Given the description of an element on the screen output the (x, y) to click on. 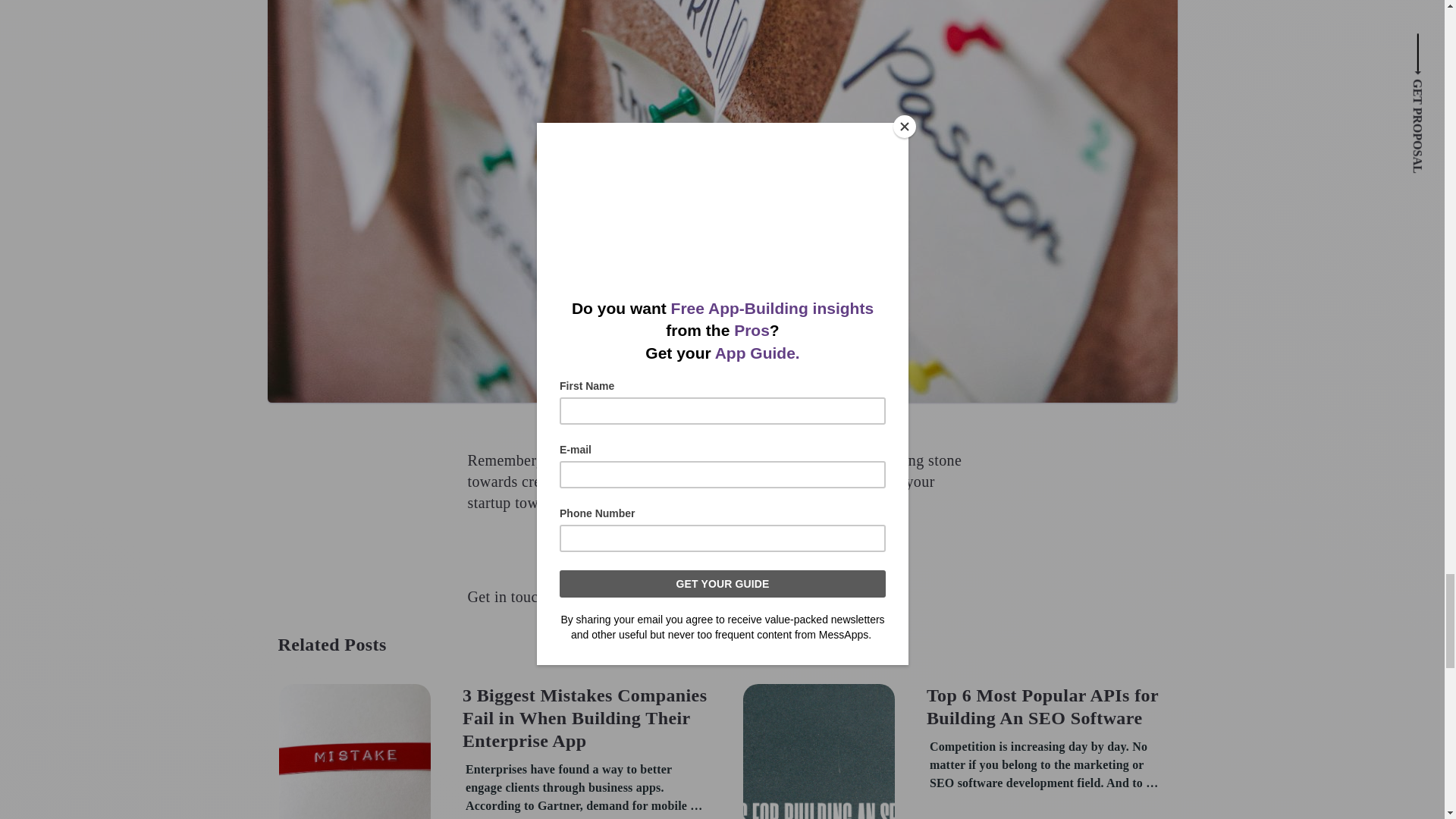
Top 6 Most Popular APIs for Building An SEO Software (1049, 706)
